Given the description of an element on the screen output the (x, y) to click on. 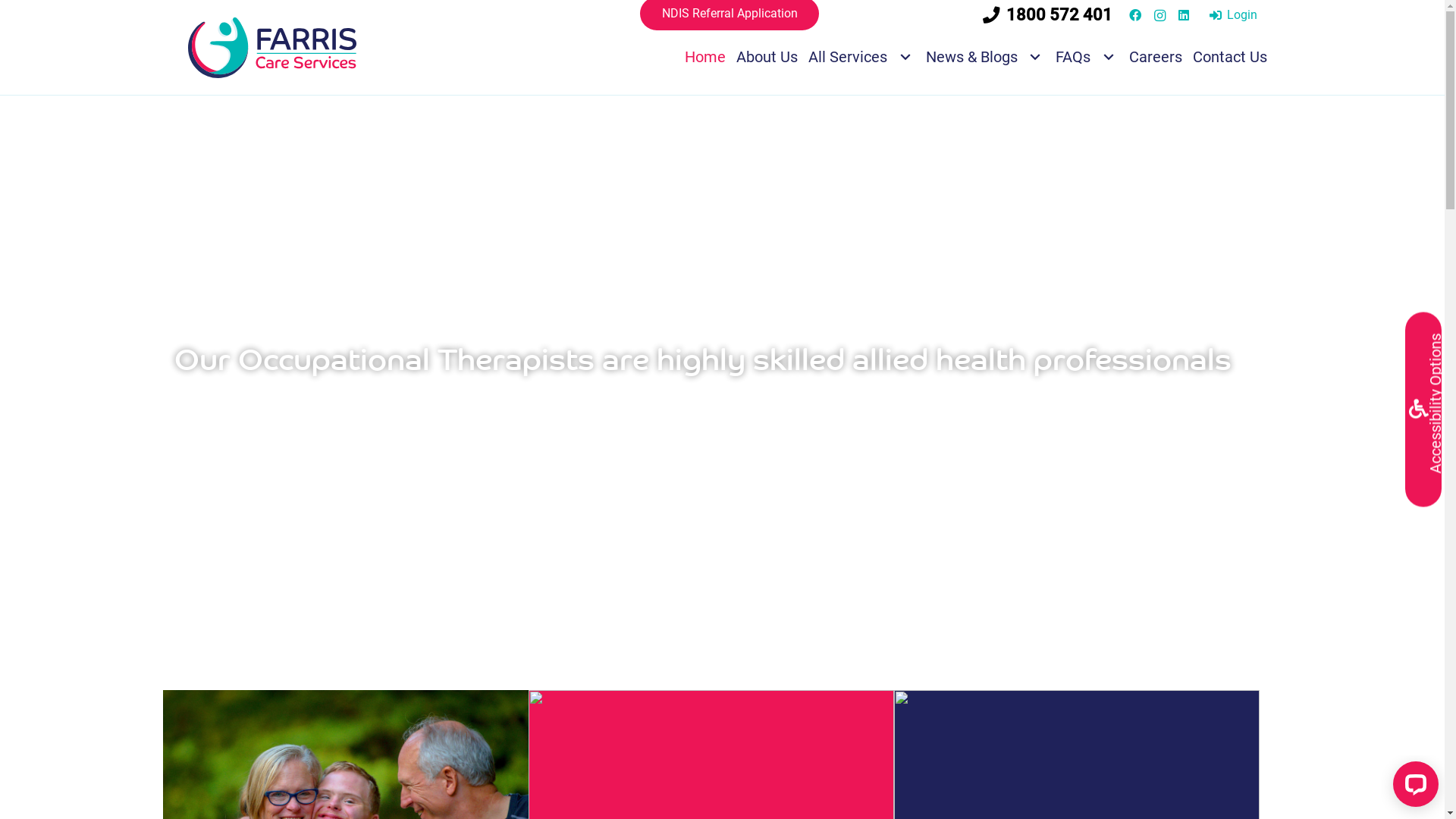
Turkish Element type: hover (937, 14)
News & Blogs Element type: text (985, 56)
Arabic Element type: hover (846, 14)
Instagram Element type: hover (1159, 15)
Myanmar (Burmese) Element type: hover (907, 14)
All Services Element type: text (861, 56)
1800 572 401 Element type: text (1047, 14)
Urdu Element type: hover (953, 14)
Italian Element type: hover (892, 14)
LinkedIn Element type: hover (1183, 15)
Home Element type: text (705, 56)
Contact Us Element type: text (1229, 56)
About Us Element type: text (767, 56)
Thai Element type: hover (922, 14)
Facebook Element type: hover (1135, 15)
Greek Element type: hover (877, 14)
Login Element type: text (1232, 14)
English Element type: hover (862, 14)
FAQs Element type: text (1086, 56)
Careers Element type: text (1155, 56)
